Given the description of an element on the screen output the (x, y) to click on. 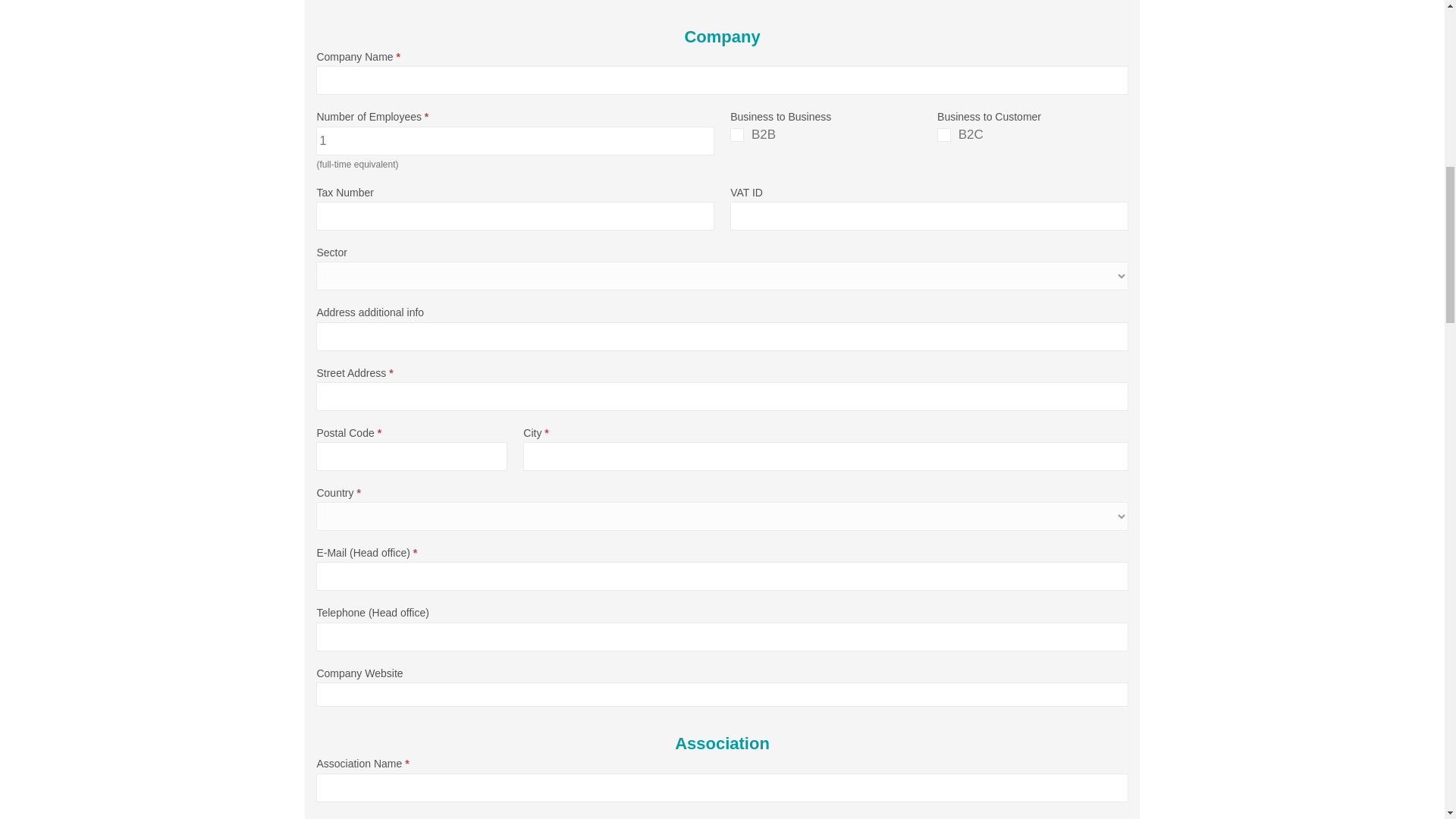
B2B (737, 134)
1 (514, 140)
B2C (943, 134)
